Given the description of an element on the screen output the (x, y) to click on. 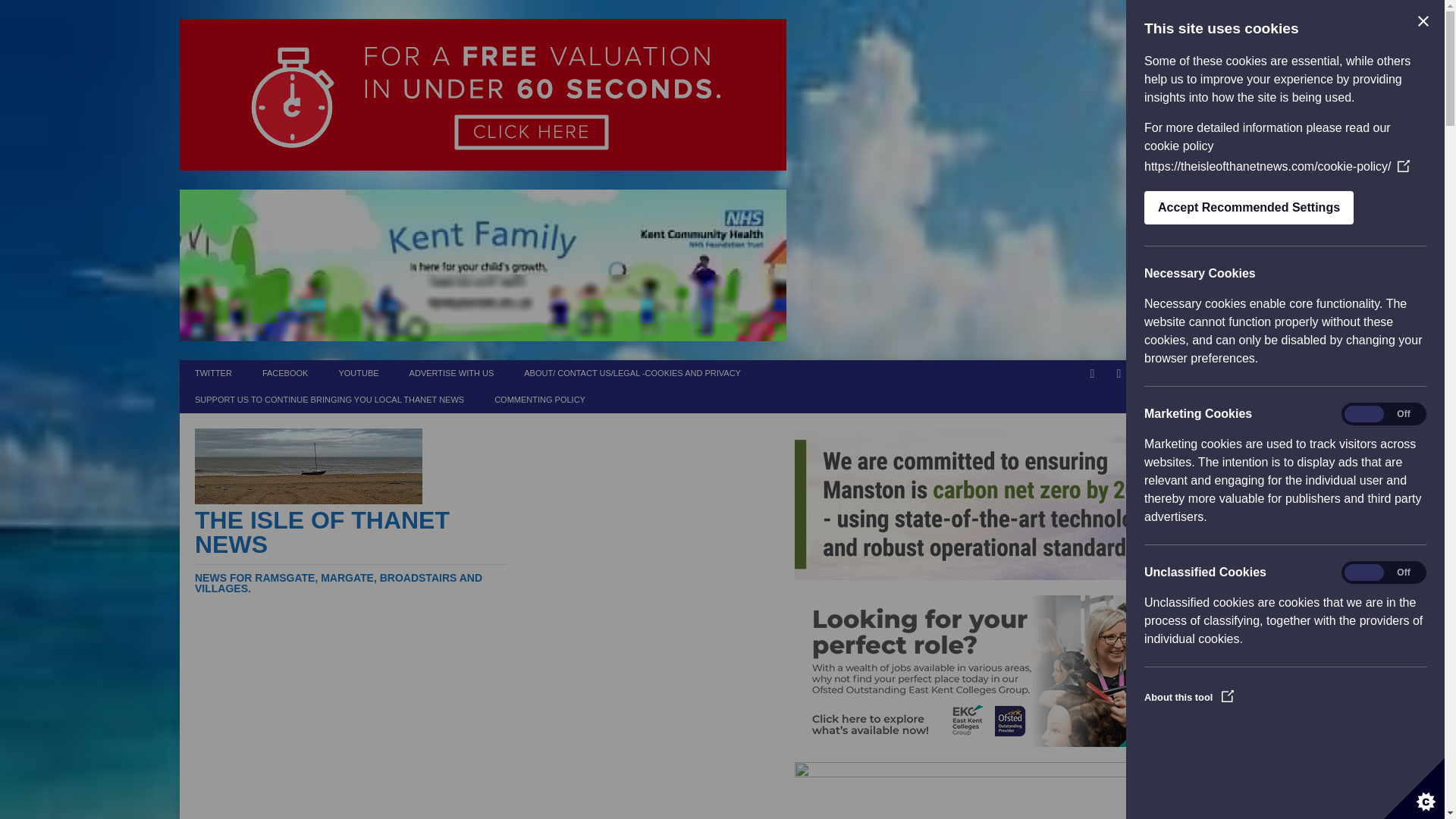
FACEBOOK (285, 373)
COMMENTING POLICY (539, 399)
ADVERTISE WITH US (451, 373)
SUPPORT US TO CONTINUE BRINGING YOU LOCAL THANET NEWS (329, 399)
The Isle Of Thanet News (351, 550)
YOUTUBE (358, 373)
TWITTER (213, 373)
